Given the description of an element on the screen output the (x, y) to click on. 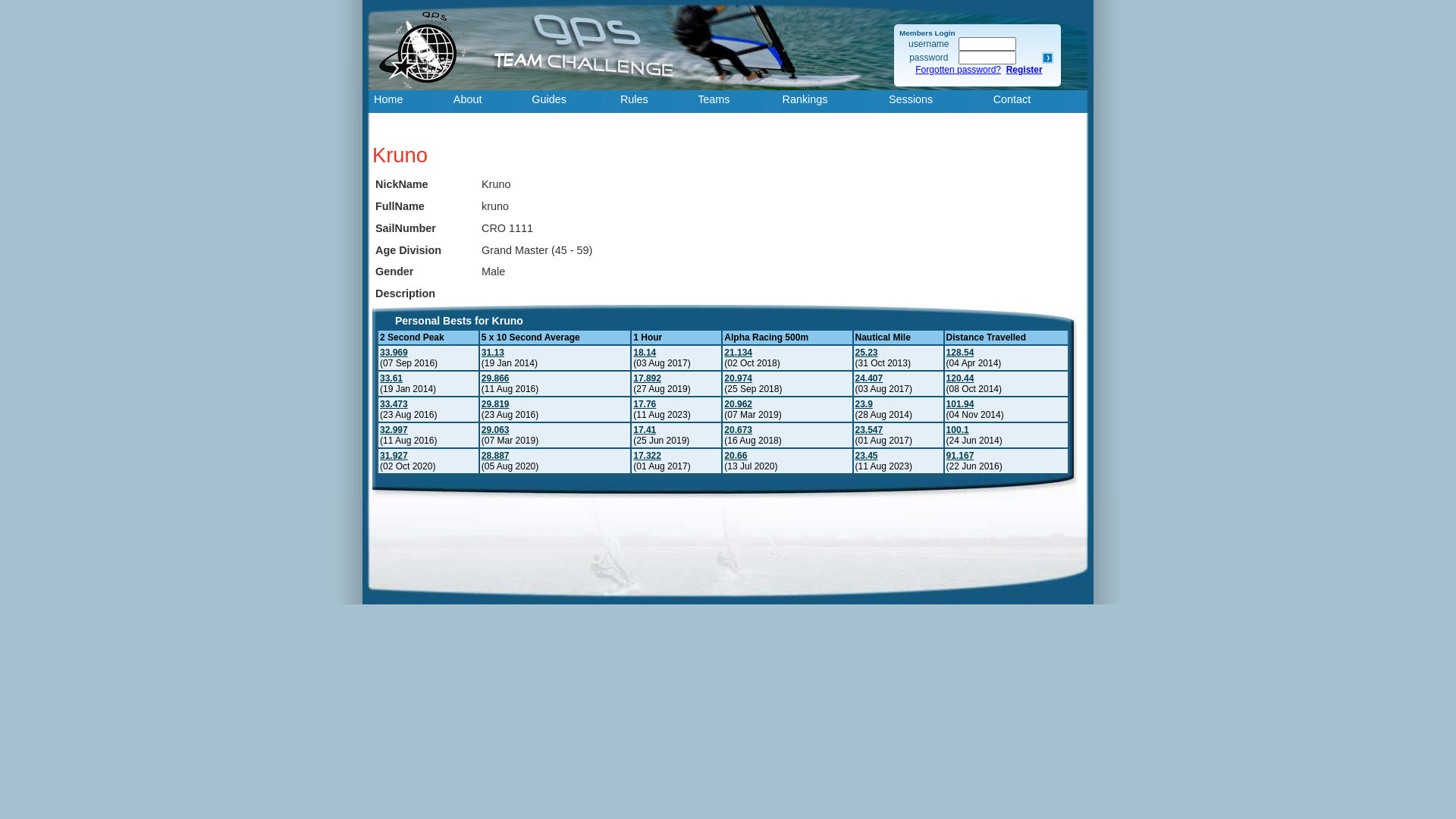
Rankings Element type: text (825, 101)
Register Element type: text (1024, 69)
Rules Element type: text (648, 101)
29.866 Element type: text (495, 378)
23.9 Element type: text (863, 403)
91.167 Element type: text (960, 455)
33.61 Element type: text (390, 378)
18.14 Element type: text (644, 352)
31.927 Element type: text (393, 455)
29.819 Element type: text (495, 403)
31.13 Element type: text (492, 352)
24.407 Element type: text (869, 378)
100.1 Element type: text (957, 429)
20.962 Element type: text (738, 403)
Home Element type: text (403, 101)
101.94 Element type: text (960, 403)
17.41 Element type: text (644, 429)
Guides Element type: text (566, 101)
23.45 Element type: text (866, 455)
128.54 Element type: text (960, 352)
28.887 Element type: text (495, 455)
20.66 Element type: text (735, 455)
120.44 Element type: text (960, 378)
Contact Element type: text (1029, 101)
21.134 Element type: text (738, 352)
29.063 Element type: text (495, 429)
25.23 Element type: text (866, 352)
23.547 Element type: text (869, 429)
32.997 Element type: text (393, 429)
Sessions Element type: text (931, 101)
20.673 Element type: text (738, 429)
33.969 Element type: text (393, 352)
17.892 Element type: text (647, 378)
33.473 Element type: text (393, 403)
17.322 Element type: text (647, 455)
Forgotten password? Element type: text (958, 69)
20.974 Element type: text (738, 378)
About Element type: text (482, 101)
17.76 Element type: text (644, 403)
Teams Element type: text (729, 101)
